Given the description of an element on the screen output the (x, y) to click on. 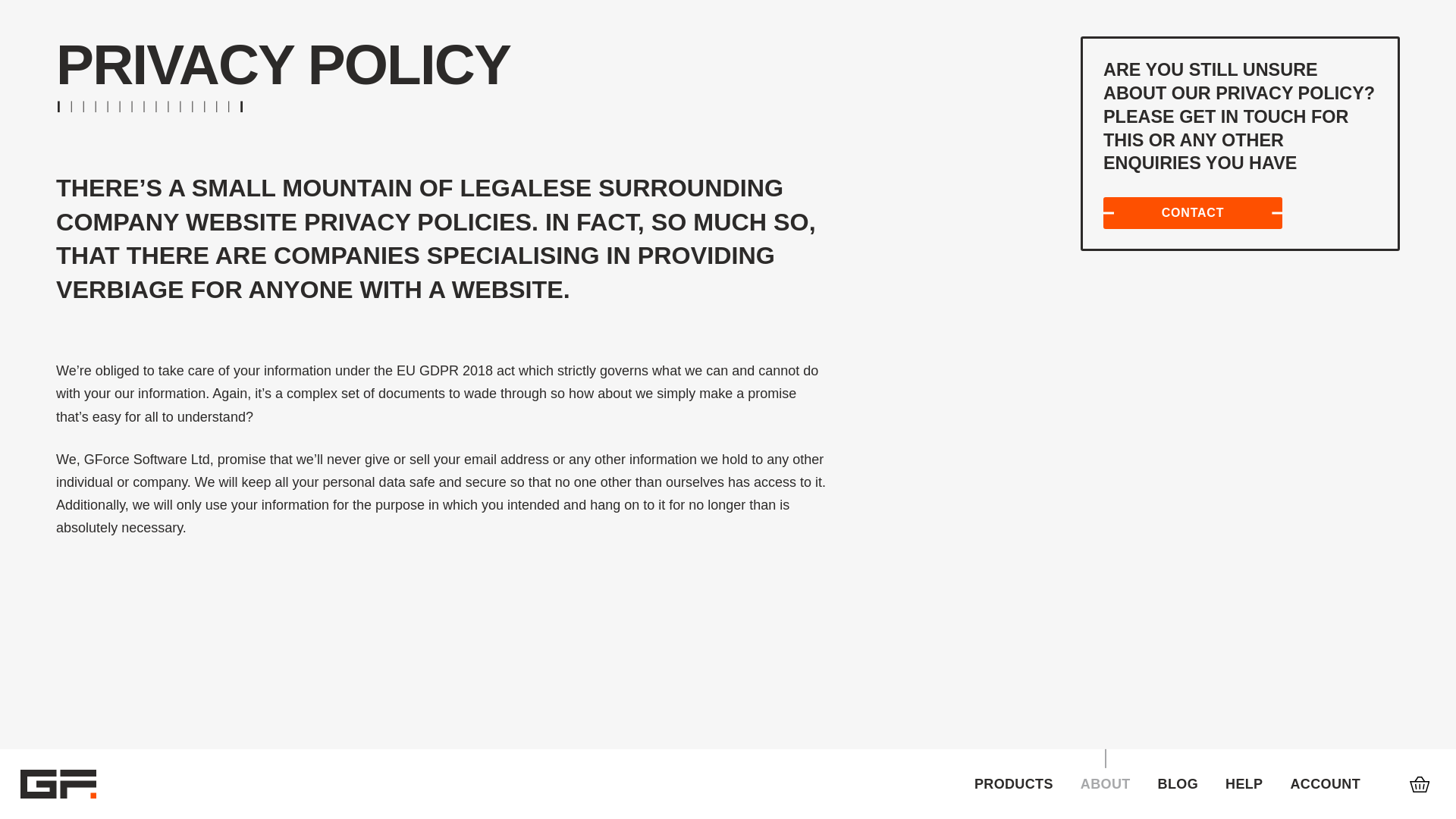
HELP (1243, 784)
CONTACT (1192, 213)
BLOG (1177, 784)
ACCOUNT (1324, 784)
PRODUCTS (1013, 784)
ABOUT (1105, 784)
